Given the description of an element on the screen output the (x, y) to click on. 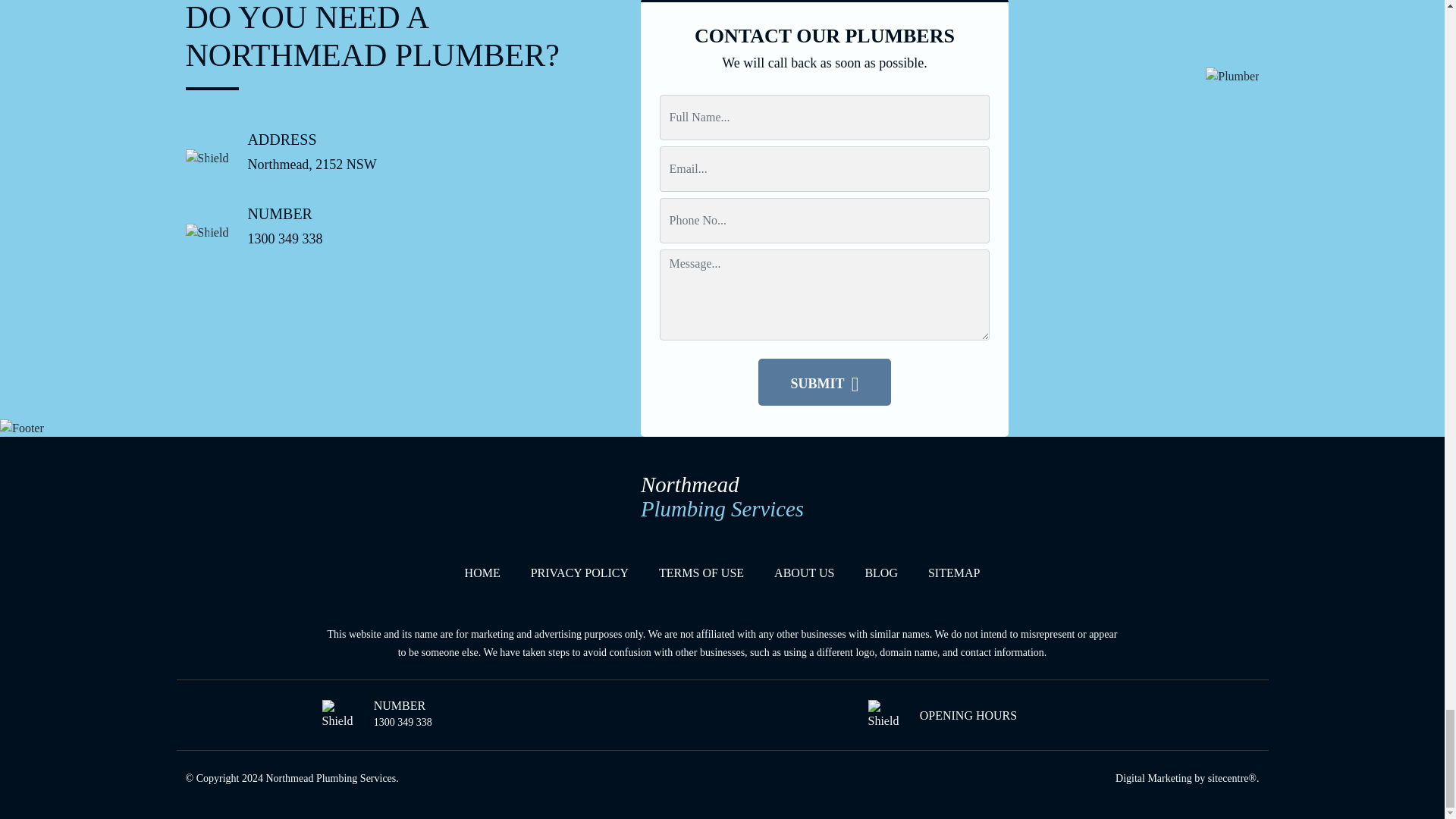
PRIVACY POLICY (579, 572)
ABOUT US (804, 572)
TERMS OF USE (701, 572)
1300 349 338 (284, 238)
About Us (804, 572)
1300 349 338 (403, 722)
Privacy Policy (721, 501)
1300 349 338 (579, 572)
Home (284, 238)
Terms of Use (721, 501)
BLOG (701, 572)
1300 349 338 (881, 572)
SITEMAP (403, 722)
Blog (953, 572)
